Given the description of an element on the screen output the (x, y) to click on. 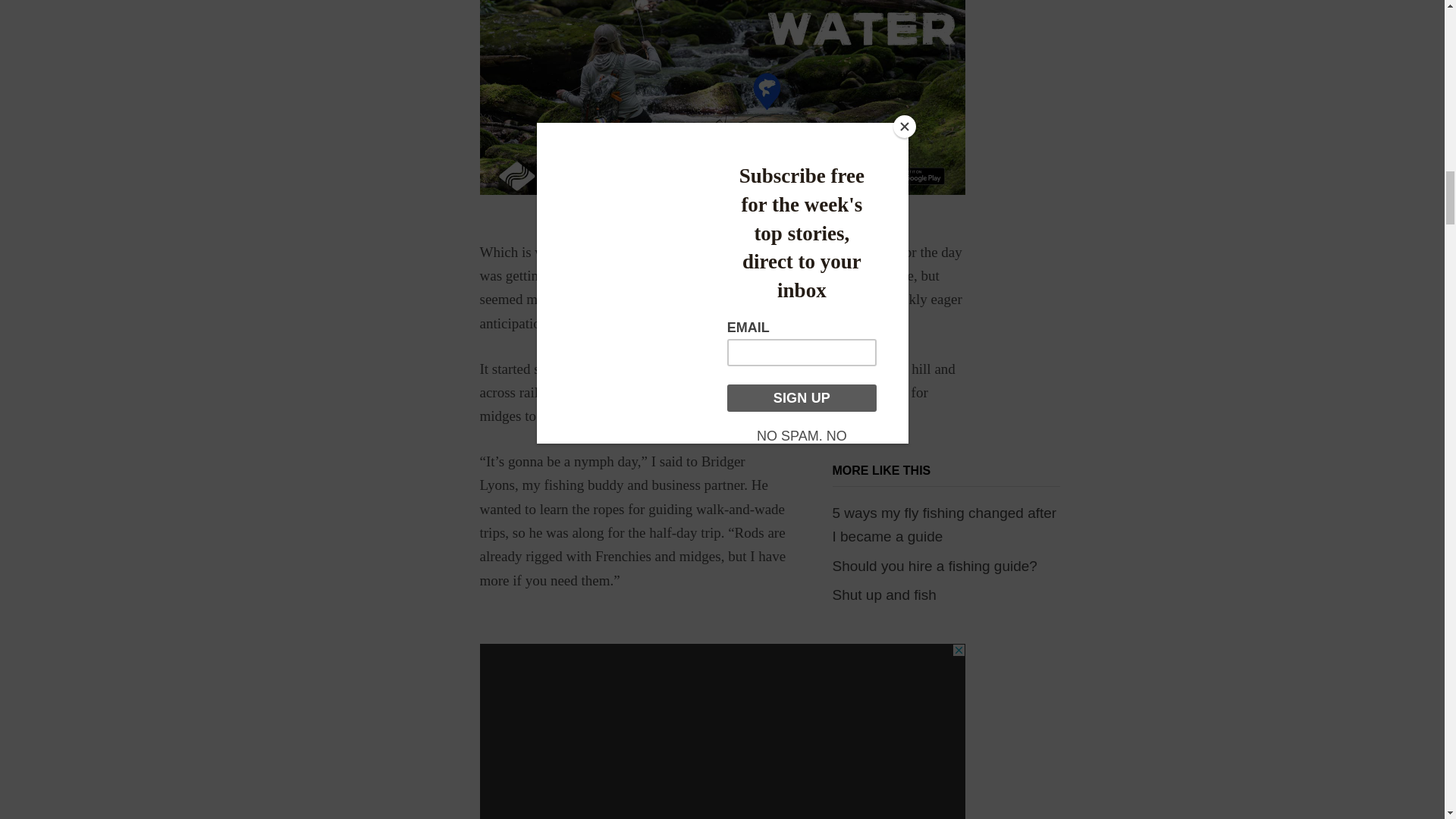
Should you hire a fishing guide? (934, 565)
Shut up and fish (884, 594)
3rd party ad content (721, 99)
5 ways my fly fishing changed after I became a guide (944, 524)
3rd party ad content (721, 731)
